Given the description of an element on the screen output the (x, y) to click on. 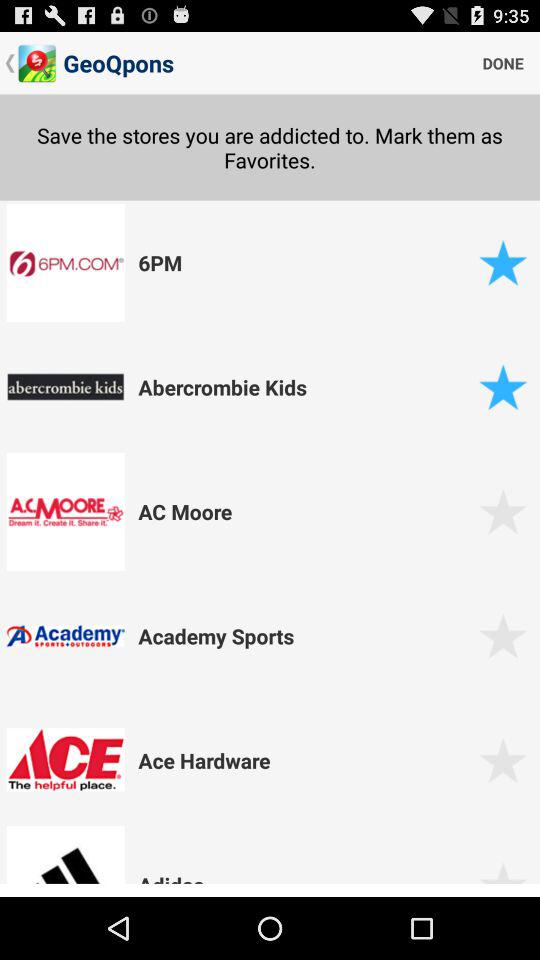
favorite that store (502, 262)
